Given the description of an element on the screen output the (x, y) to click on. 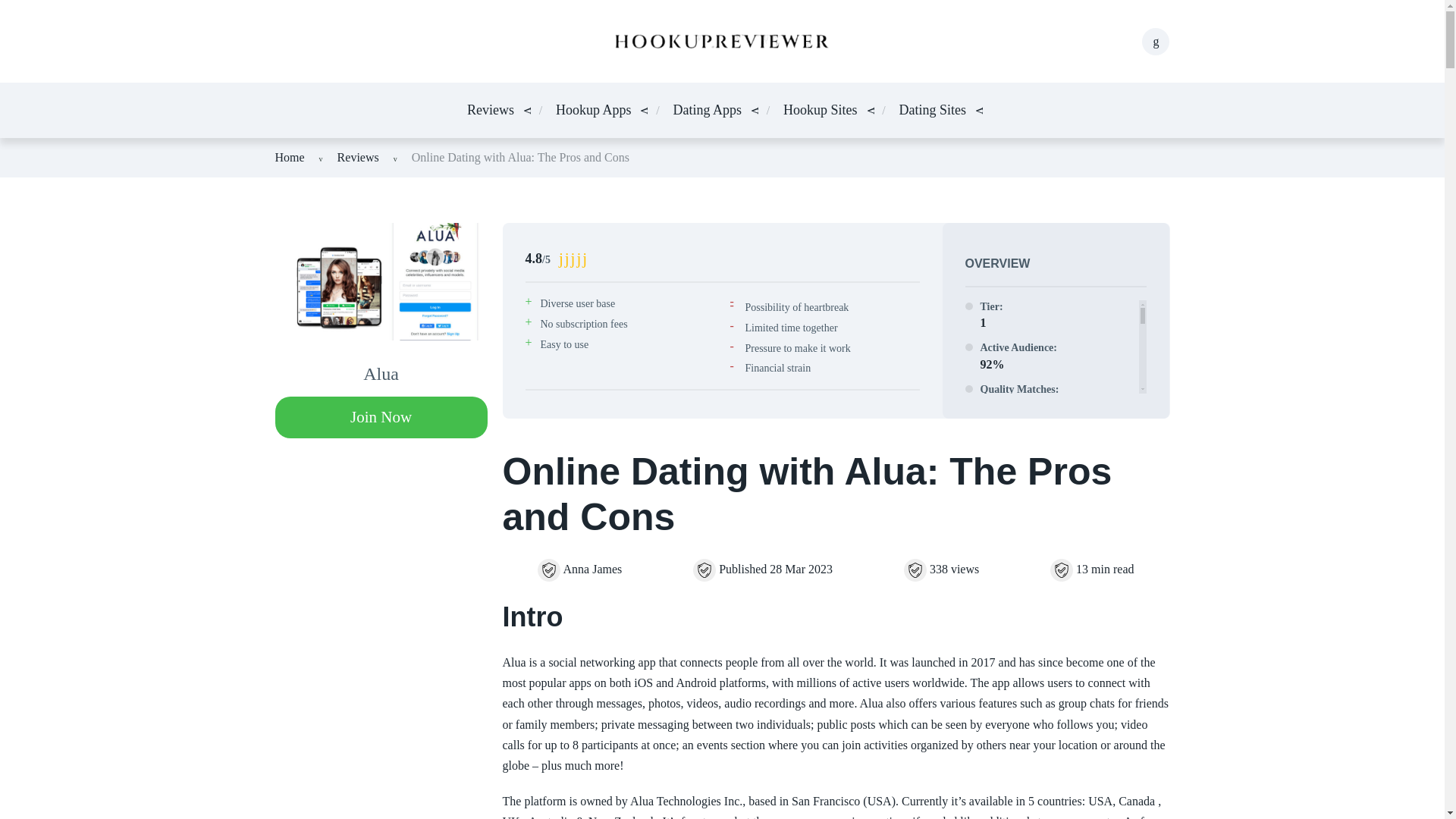
Reviews (490, 109)
Online Dating with Alua: The Pros and Cons (520, 156)
Home (289, 156)
Reviews (357, 156)
